Given the description of an element on the screen output the (x, y) to click on. 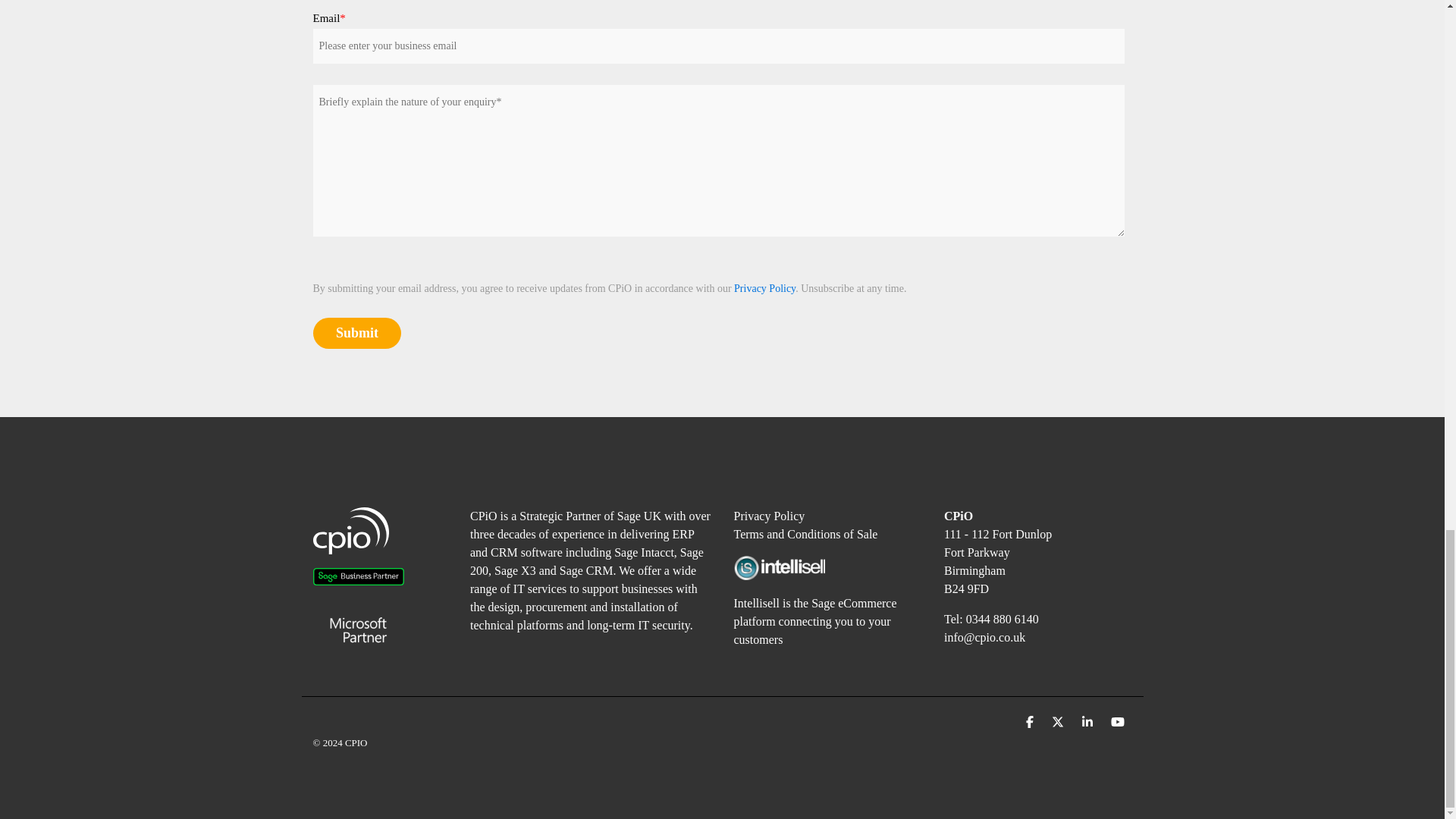
Submit (356, 332)
